Given the description of an element on the screen output the (x, y) to click on. 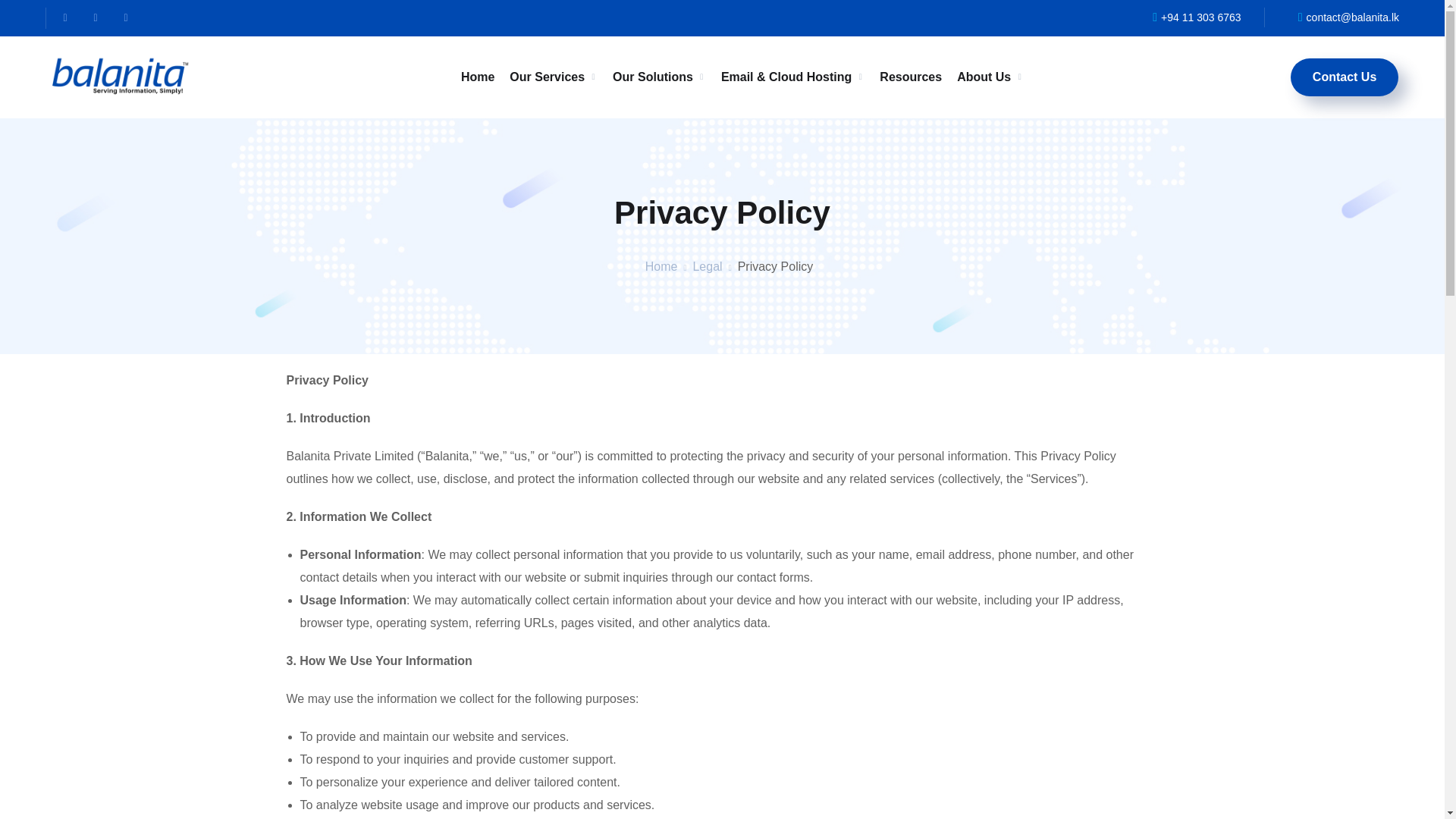
Resources (910, 76)
Our Services (552, 76)
About Us (989, 76)
Our Solutions (659, 76)
Contact Us (1343, 77)
